Given the description of an element on the screen output the (x, y) to click on. 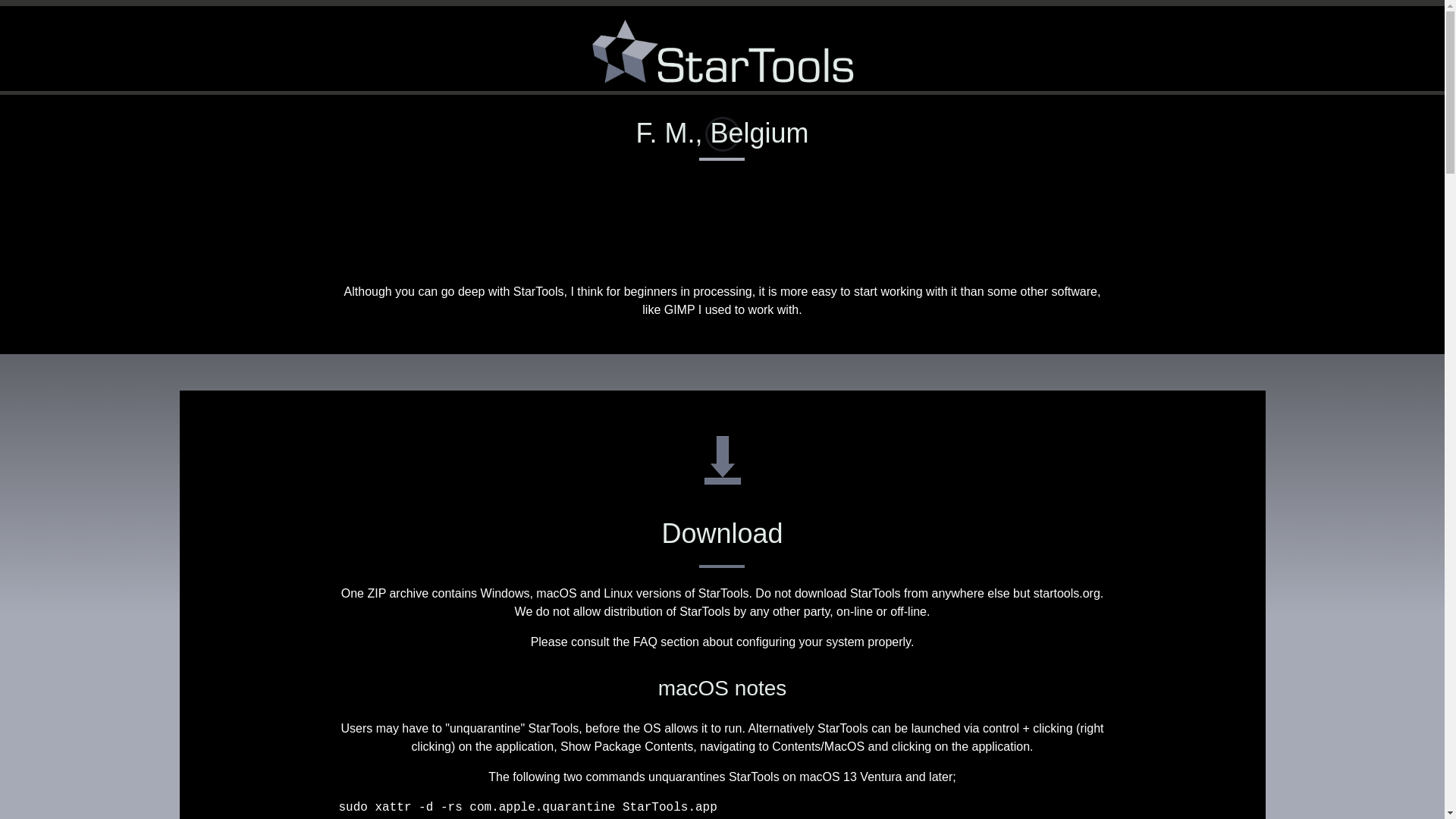
Download (722, 532)
macOS notes (722, 688)
